Given the description of an element on the screen output the (x, y) to click on. 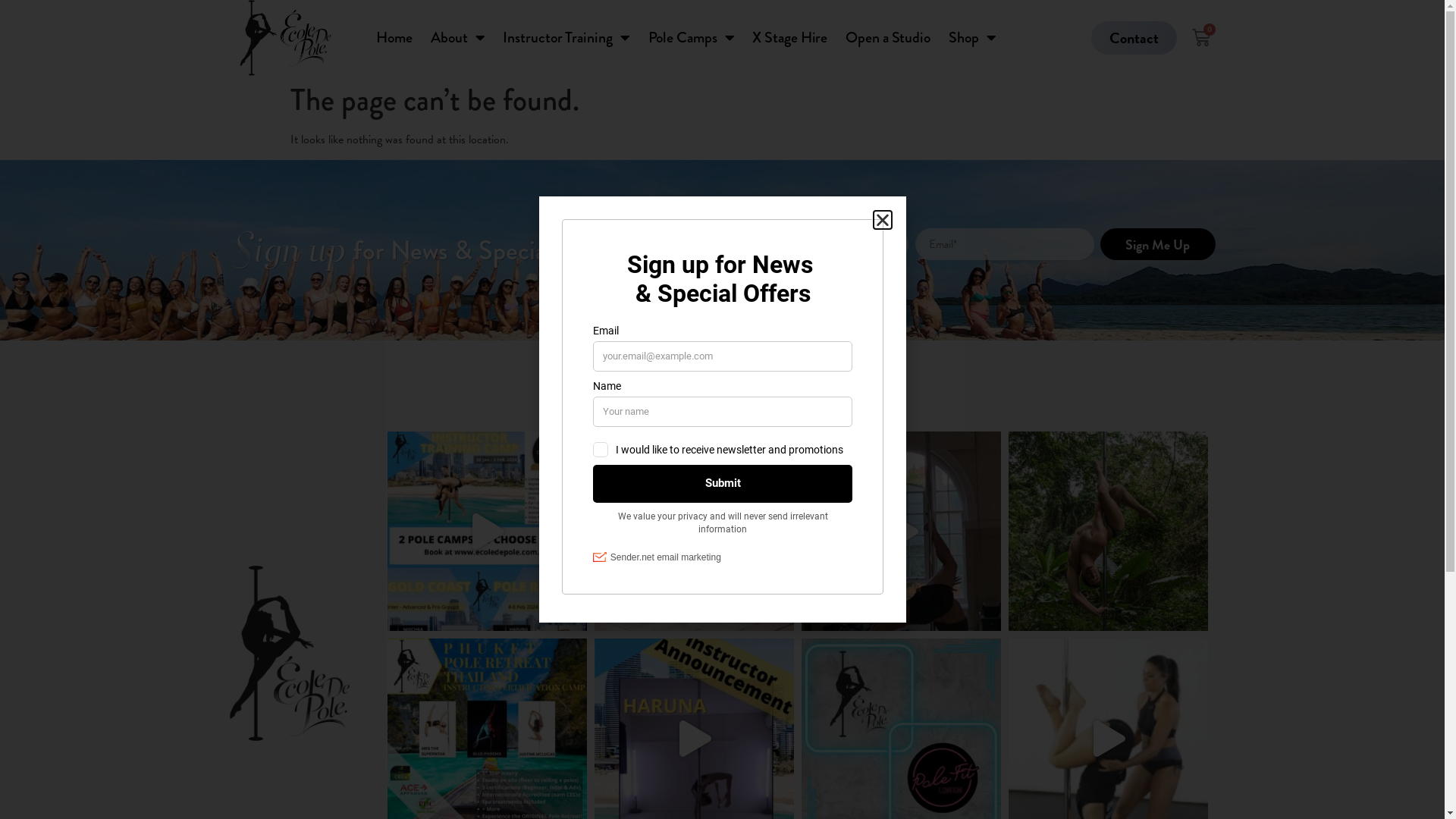
About Element type: text (457, 37)
X Stage Hire Element type: text (789, 37)
Pole Camps Element type: text (690, 37)
Contact Element type: text (1133, 37)
Home Element type: text (394, 37)
Sign Me Up Element type: text (1156, 244)
Open a Studio Element type: text (887, 37)
0 Element type: text (1201, 37)
Shop Element type: text (972, 37)
Instructor Training Element type: text (565, 37)
